Given the description of an element on the screen output the (x, y) to click on. 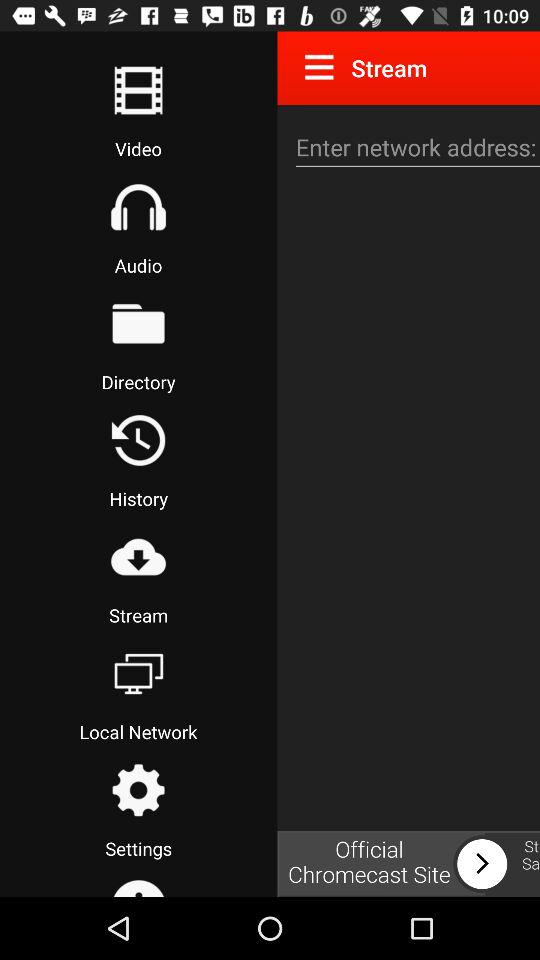
open video (138, 90)
